Given the description of an element on the screen output the (x, y) to click on. 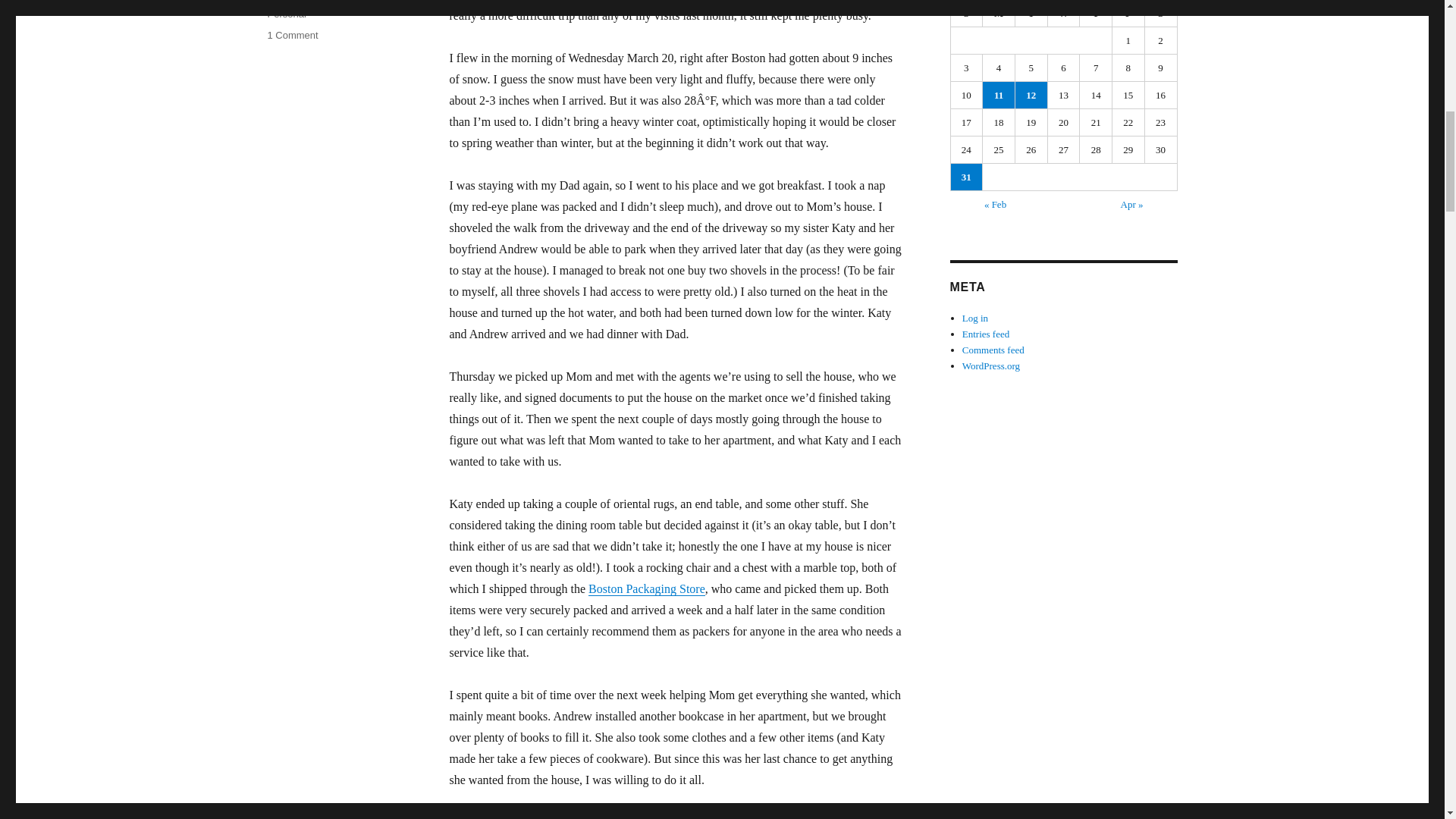
Personal (285, 13)
Friday (1128, 13)
Wednesday (1064, 13)
Thursday (1096, 13)
Monday (998, 13)
Saturday (1160, 13)
Sunday (967, 13)
Boston Packaging Store (646, 588)
12 (1030, 94)
Log in (975, 317)
